Given the description of an element on the screen output the (x, y) to click on. 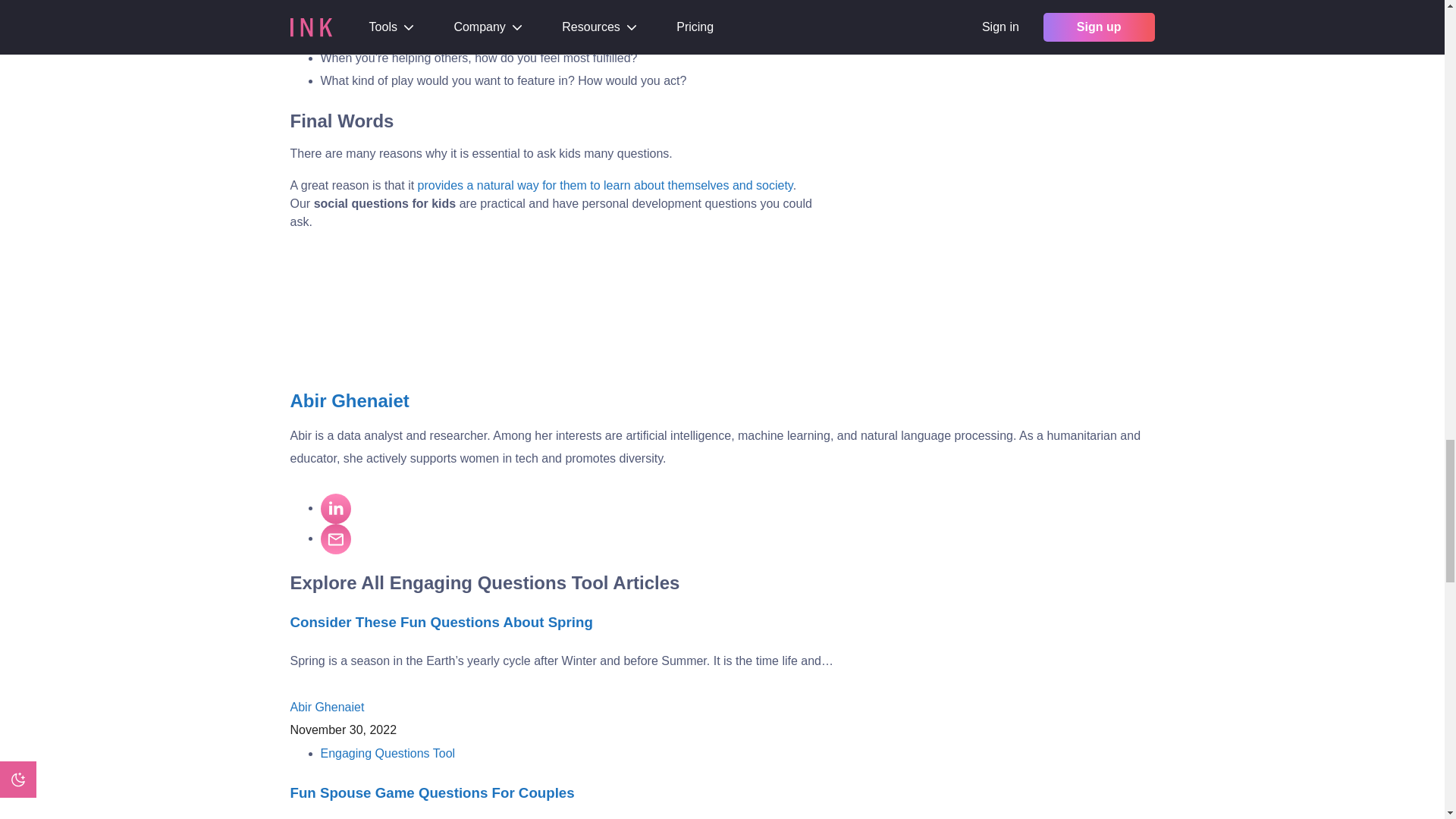
Abir Ghenaiet LinkedIn (335, 508)
Email Abir Ghenaiet (335, 539)
